Given the description of an element on the screen output the (x, y) to click on. 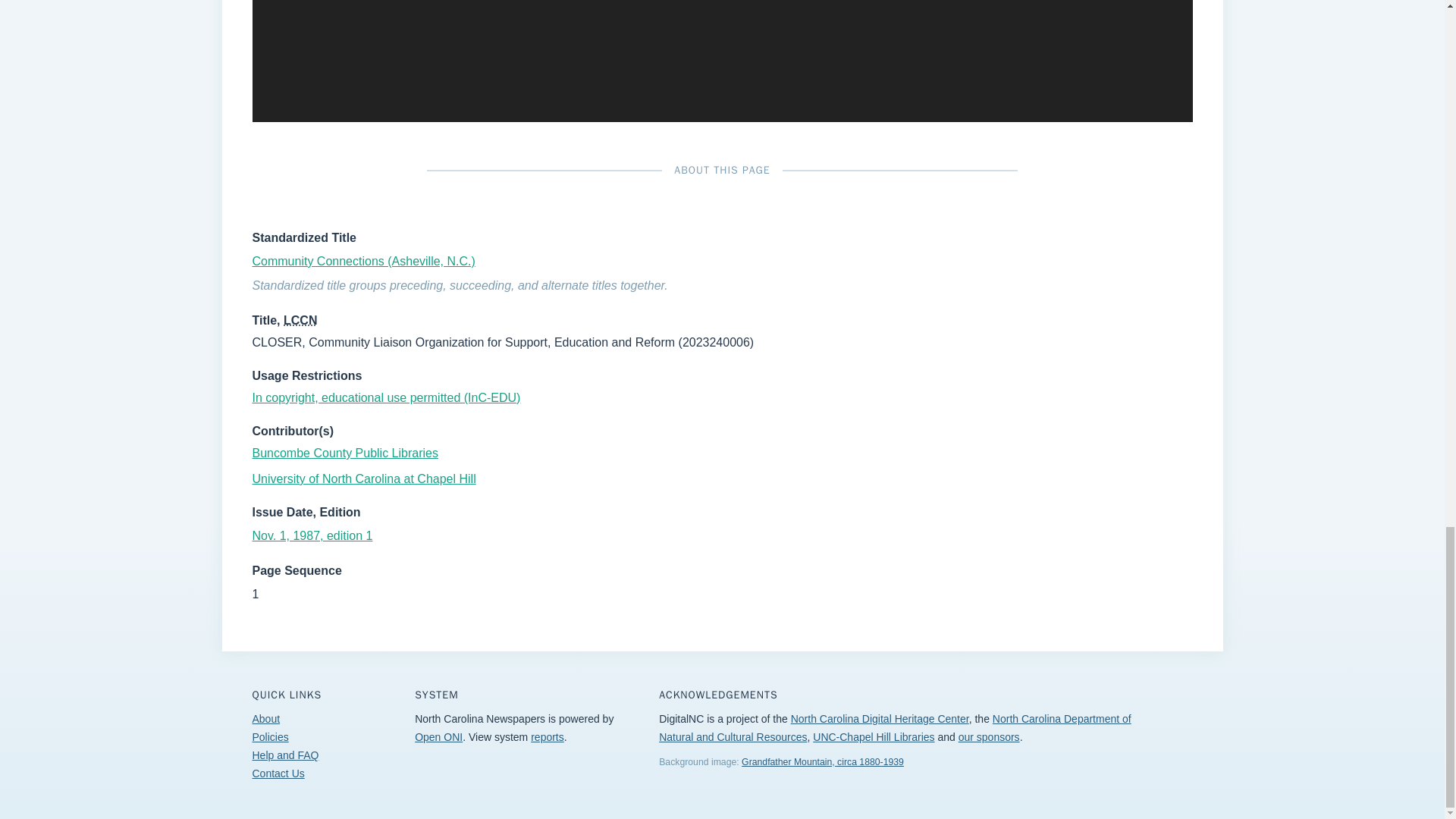
Buncombe County Public Libraries (344, 452)
Nov. 1, 1987, edition 1 (311, 535)
Library of Congress Catalog Number (300, 319)
View all pages in this issue (311, 535)
University of North Carolina at Chapel Hill (363, 478)
